Given the description of an element on the screen output the (x, y) to click on. 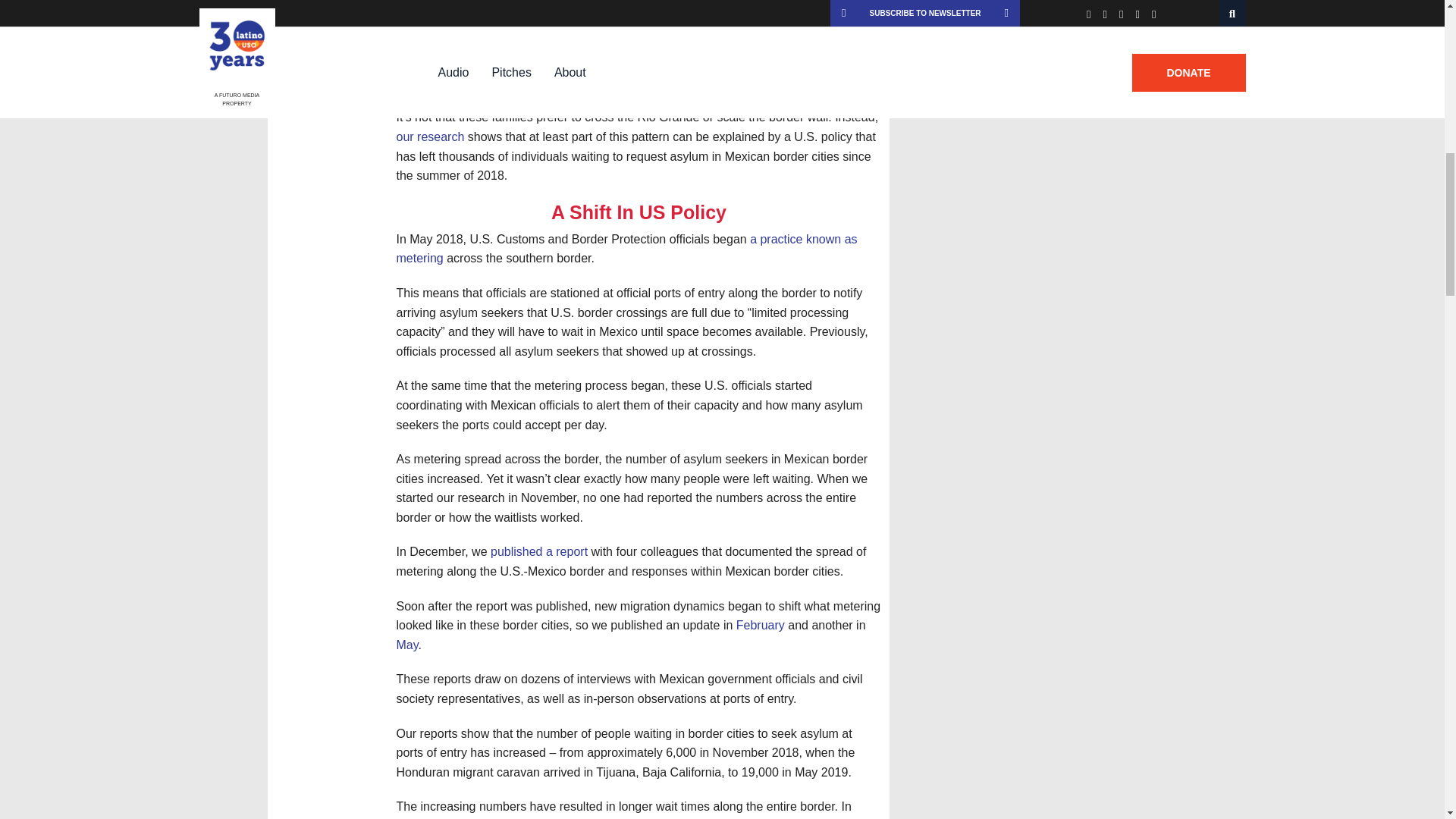
our (404, 136)
a practice known as metering (626, 248)
research (440, 136)
